Given the description of an element on the screen output the (x, y) to click on. 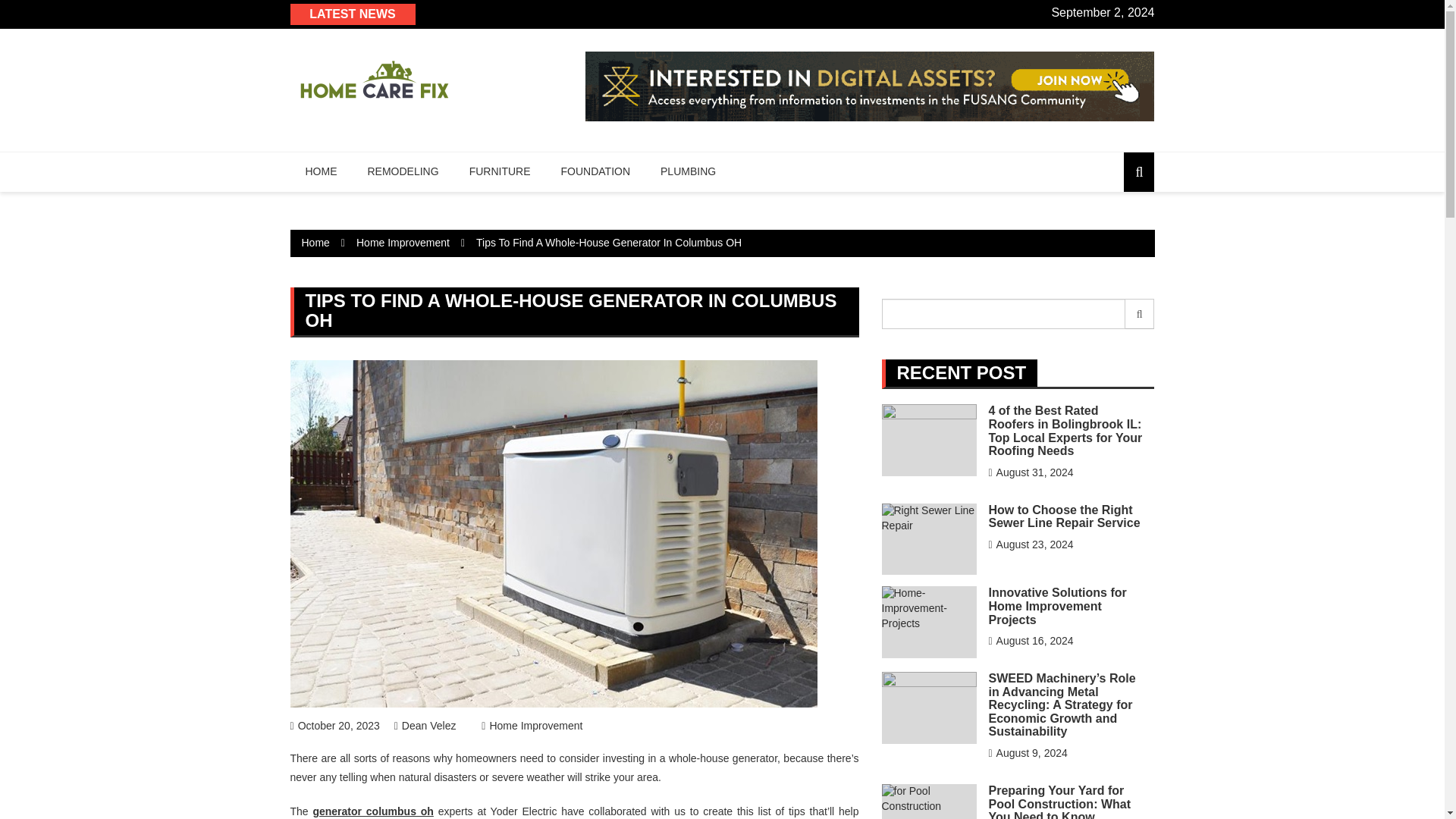
Innovative Solutions for Home Improvement Projects (1056, 605)
Home Improvement (402, 242)
Search (1139, 313)
August 23, 2024 (1030, 544)
October 20, 2023 (333, 725)
Dean Velez (425, 725)
August 31, 2024 (1030, 472)
FOUNDATION (596, 171)
FURNITURE (500, 171)
